Given the description of an element on the screen output the (x, y) to click on. 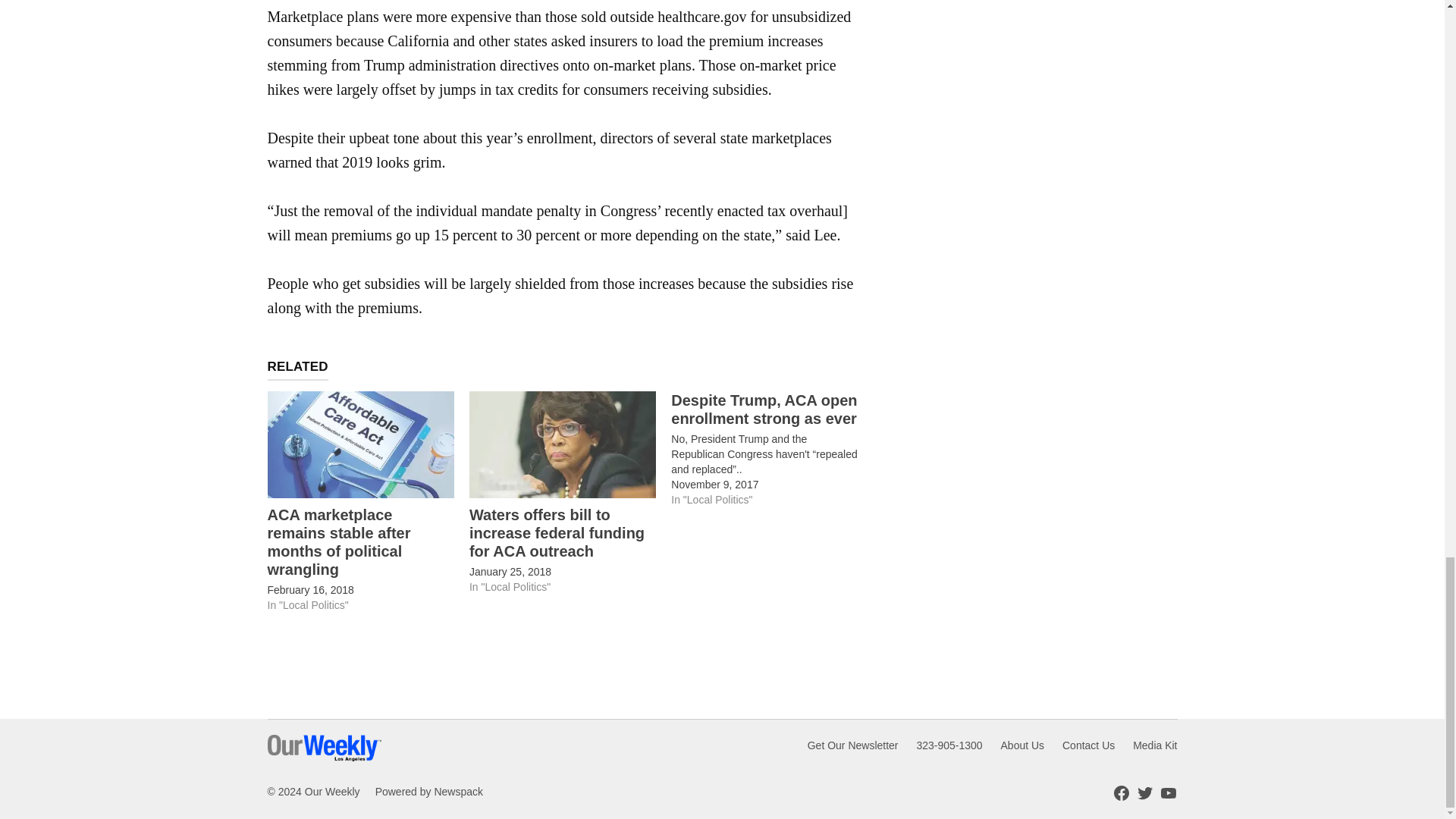
Despite Trump, ACA open enrollment strong as ever (764, 409)
Despite Trump, ACA open enrollment strong as ever (771, 448)
